Given the description of an element on the screen output the (x, y) to click on. 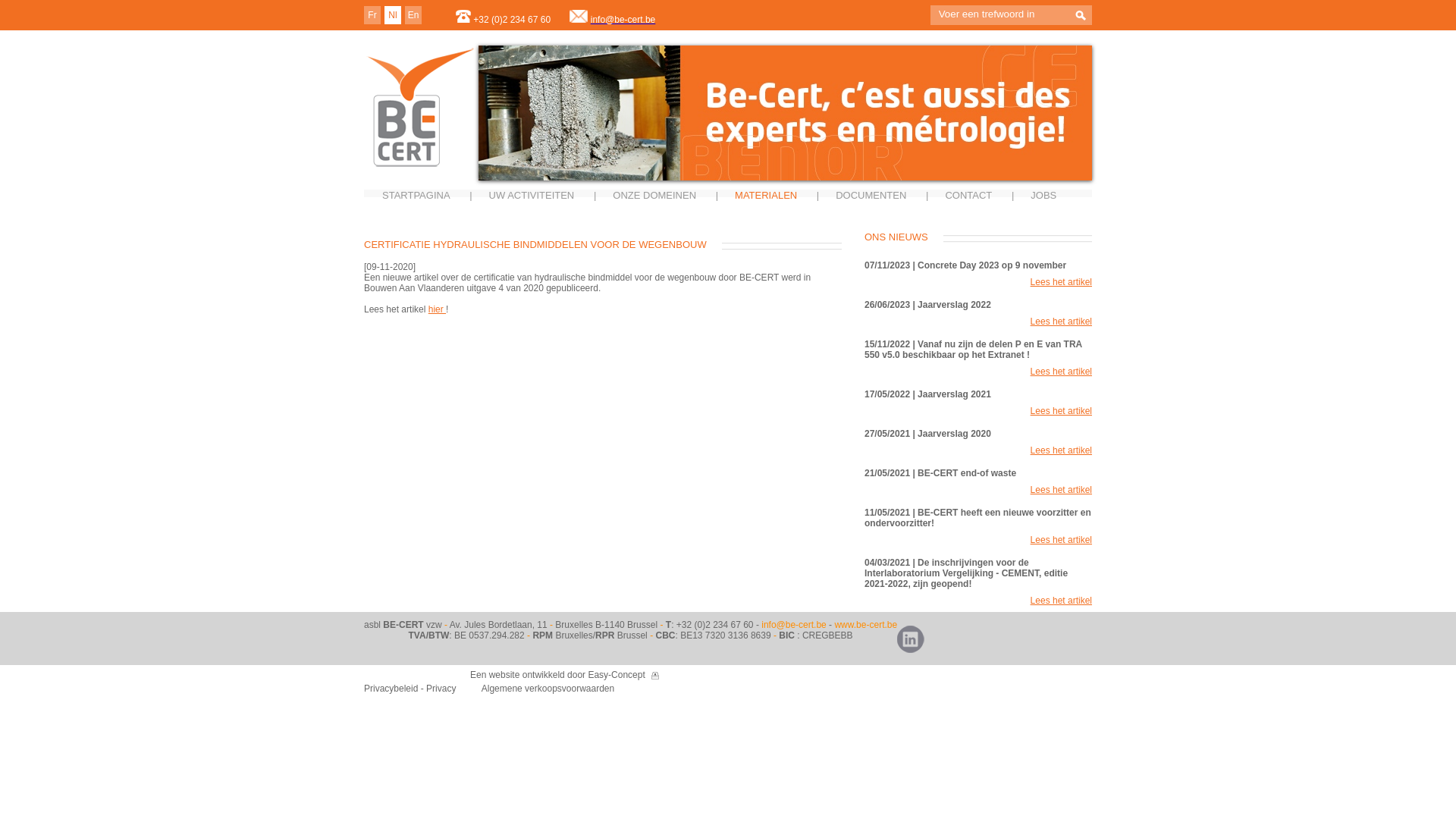
UW ACTIVITEITEN Element type: text (531, 194)
Nl Element type: text (392, 14)
Lees het artikel Element type: text (1061, 281)
CONTACT Element type: text (967, 194)
DOCUMENTEN Element type: text (870, 194)
Algemene verkoopsvoorwaarden Element type: text (547, 688)
Fr Element type: text (371, 14)
Lees het artikel Element type: text (1061, 371)
Een website ontwikkeld door Easy-Concept Element type: text (557, 674)
JOBS Element type: text (1043, 194)
Lees het artikel Element type: text (1061, 450)
Privacy Element type: text (442, 688)
STARTPAGINA Element type: text (416, 194)
Lees het artikel Element type: text (1061, 489)
ONZE DOMEINEN Element type: text (654, 194)
  Element type: text (1081, 16)
Lees het artikel Element type: text (1061, 410)
Lees het artikel Element type: text (1061, 600)
Lees het artikel Element type: text (1061, 321)
MATERIALEN Element type: text (765, 194)
En Element type: text (413, 14)
Privacybeleid Element type: text (390, 688)
Lees het artikel Element type: text (1061, 539)
info@be-cert.be Element type: text (622, 19)
hier Element type: text (436, 309)
